Given the description of an element on the screen output the (x, y) to click on. 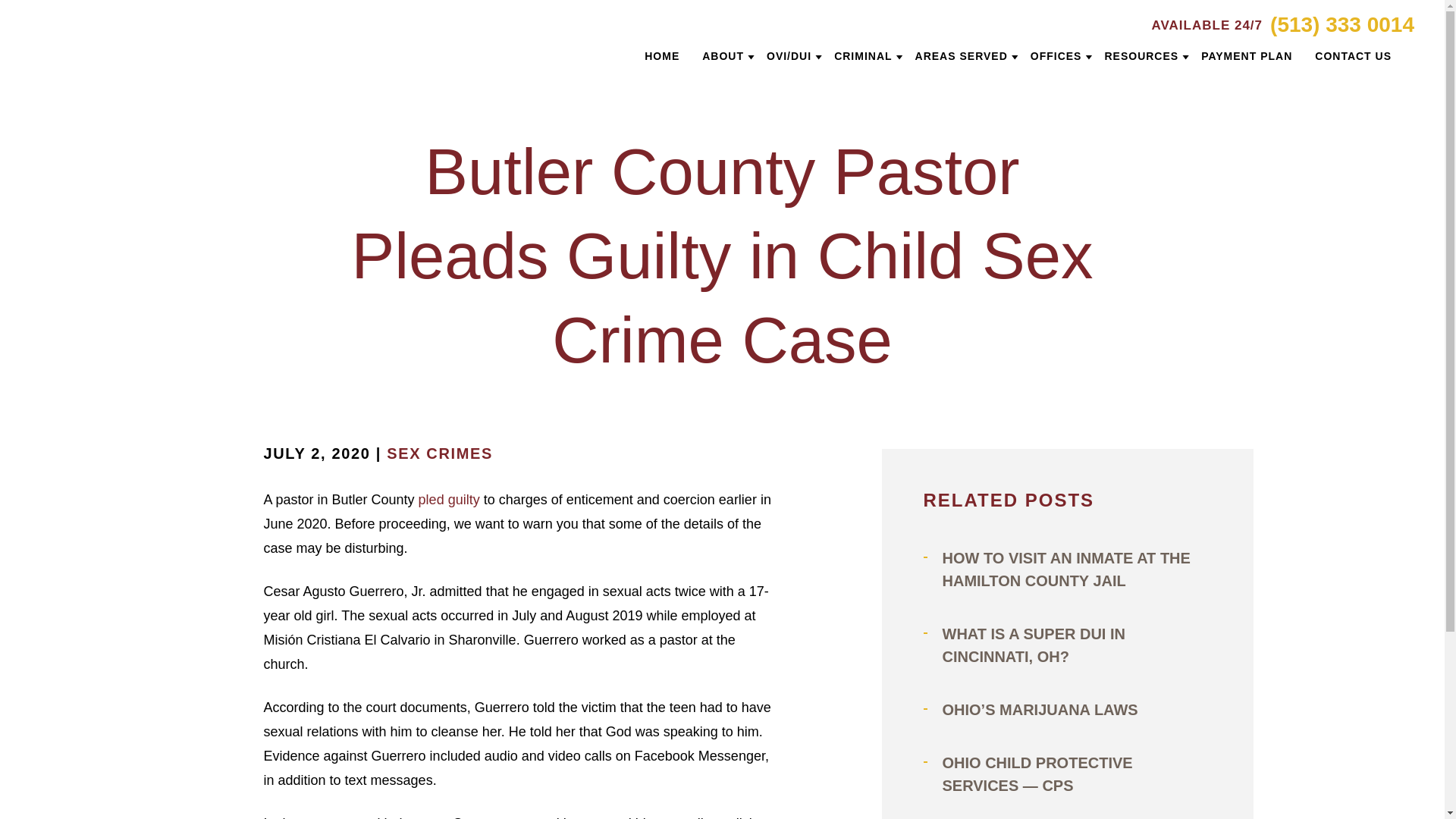
ABOUT (722, 55)
OFFICES (1055, 55)
HOME (662, 55)
CRIMINAL (862, 55)
AREAS SERVED (961, 55)
